Given the description of an element on the screen output the (x, y) to click on. 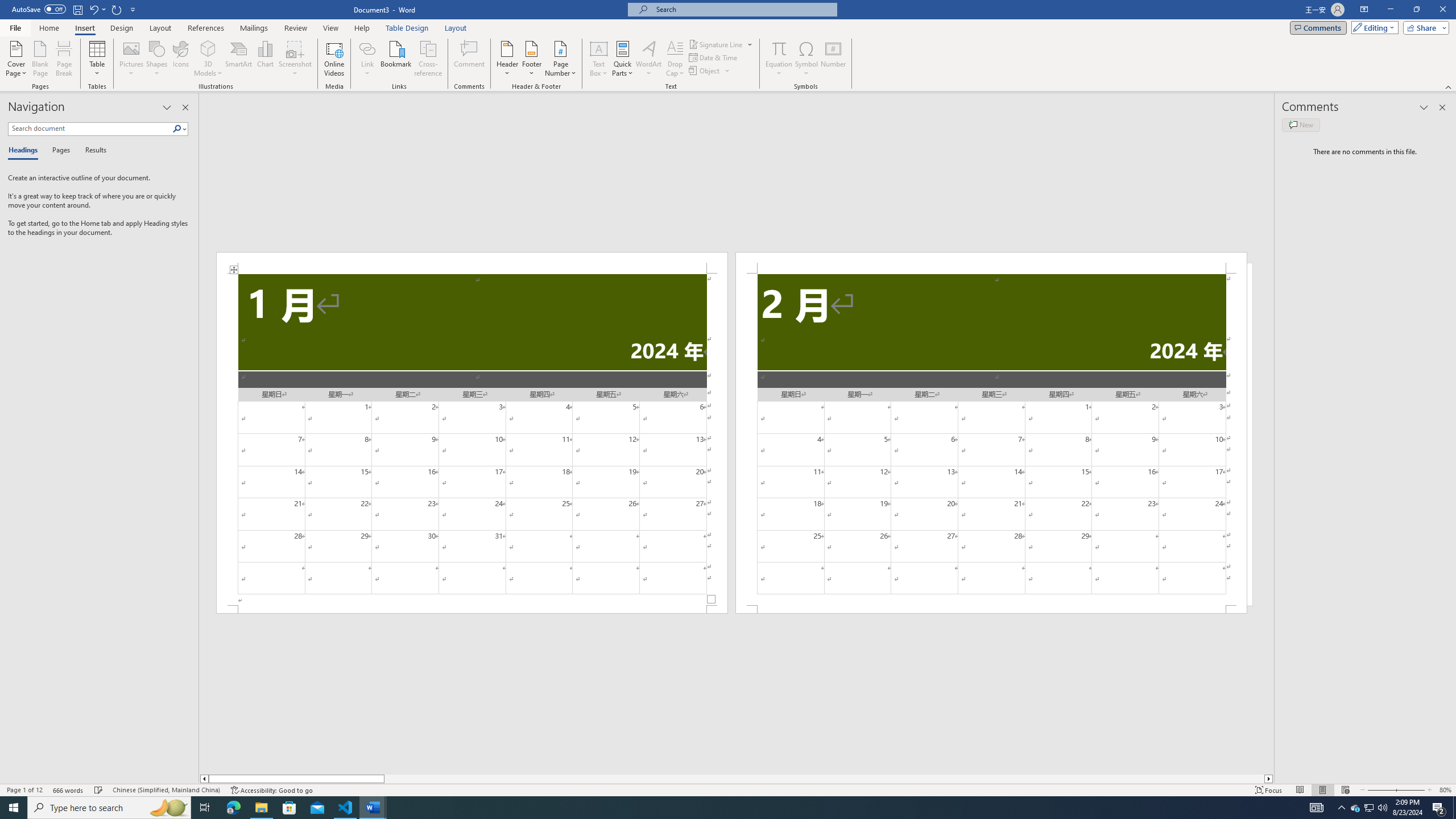
3D Models (208, 48)
Accessibility Checker Accessibility: Good to go (271, 790)
Drop Cap (674, 58)
Headings (25, 150)
Repeat Doc Close (117, 9)
Bookmark... (396, 58)
Number... (833, 58)
Microsoft search (742, 9)
WordArt (648, 58)
Pictures (131, 58)
Table (97, 58)
